Given the description of an element on the screen output the (x, y) to click on. 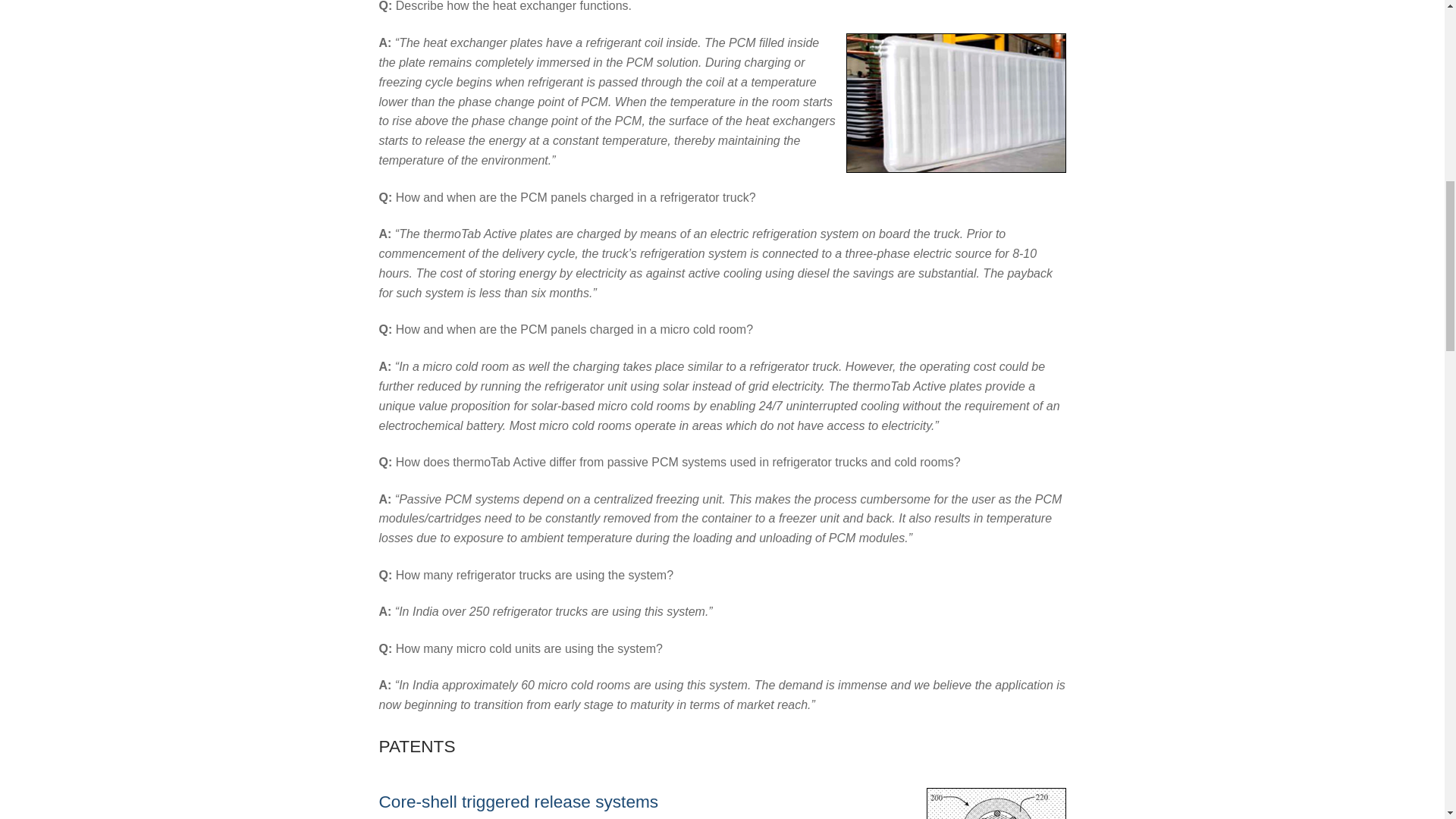
Core-shell triggered release systems (518, 801)
